Given the description of an element on the screen output the (x, y) to click on. 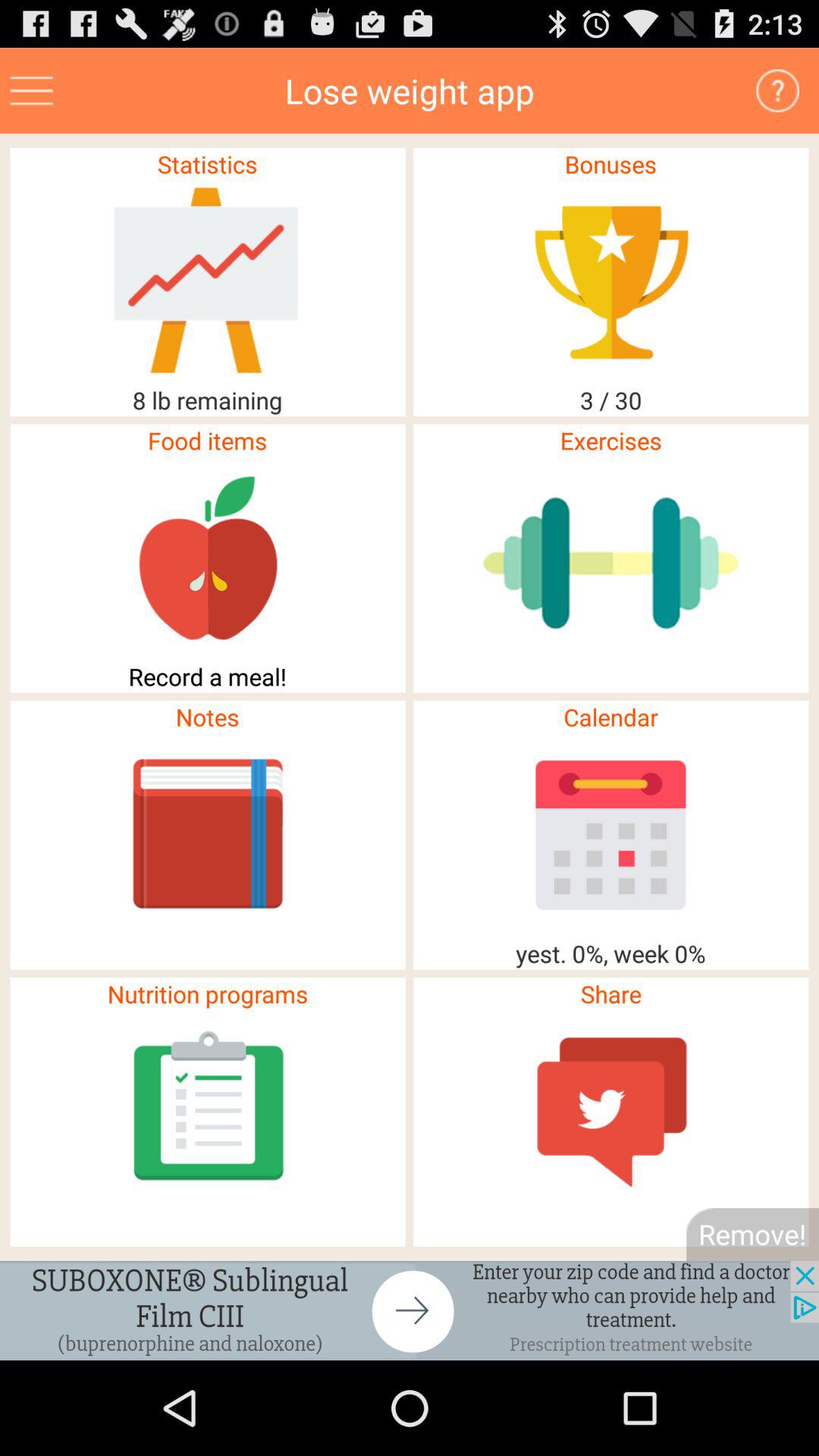
go back (409, 1310)
